Given the description of an element on the screen output the (x, y) to click on. 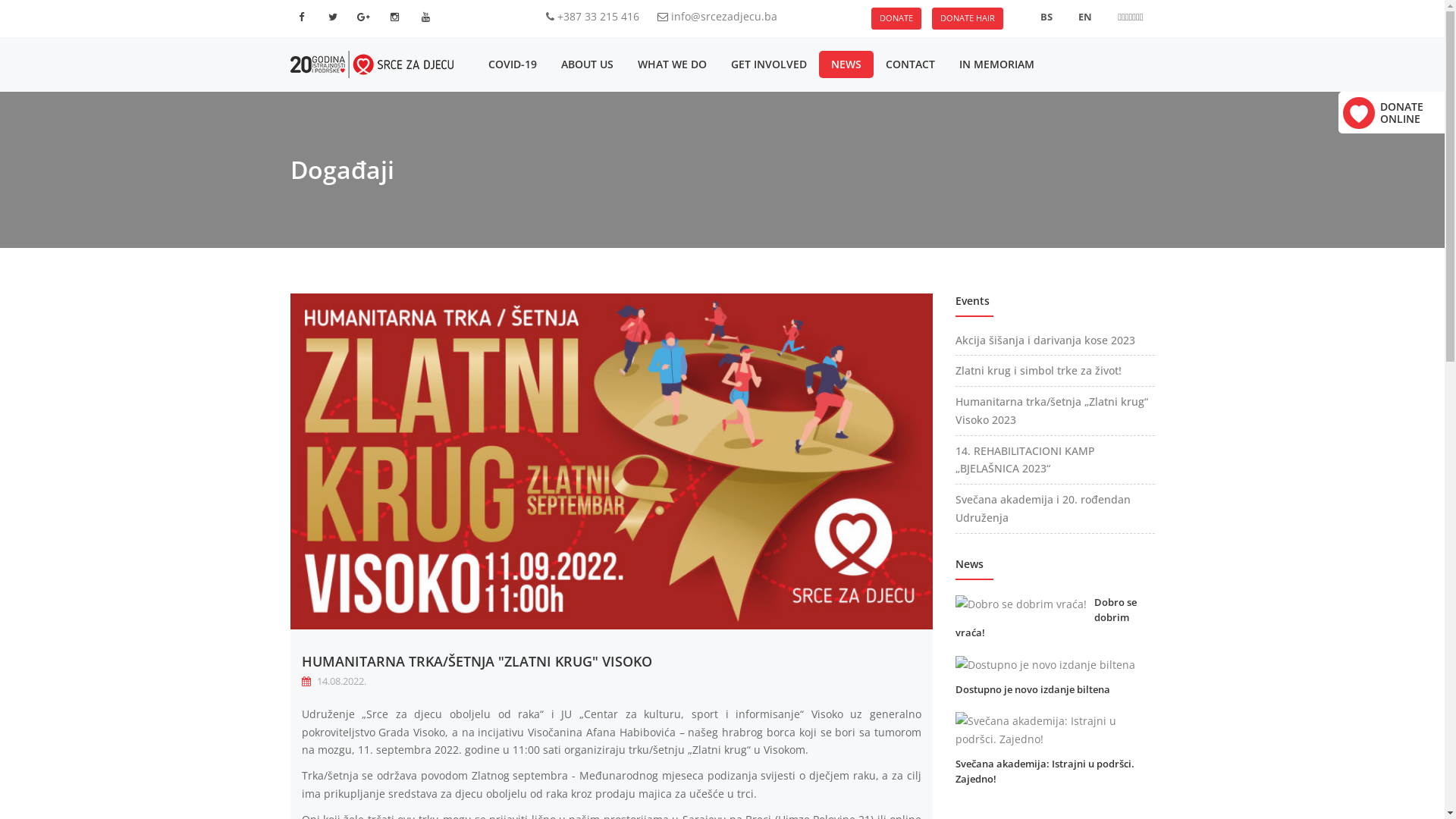
IN MEMORIAM Element type: text (995, 64)
CONTACT Element type: text (910, 64)
Dostupno je novo izdanje biltena Element type: text (1032, 689)
DONATE Element type: text (895, 18)
GET INVOLVED Element type: text (768, 64)
NEWS Element type: text (846, 64)
info@srcezadjecu.ba Element type: text (724, 16)
EN Element type: text (1084, 16)
ABOUT US Element type: text (587, 64)
DONATE
ONLINE Element type: text (1401, 112)
COVID-19 Element type: text (512, 64)
BS Element type: text (1046, 16)
WHAT WE DO Element type: text (671, 64)
+387 33 215 416 Element type: text (598, 16)
DONATE HAIR Element type: text (966, 18)
